Given the description of an element on the screen output the (x, y) to click on. 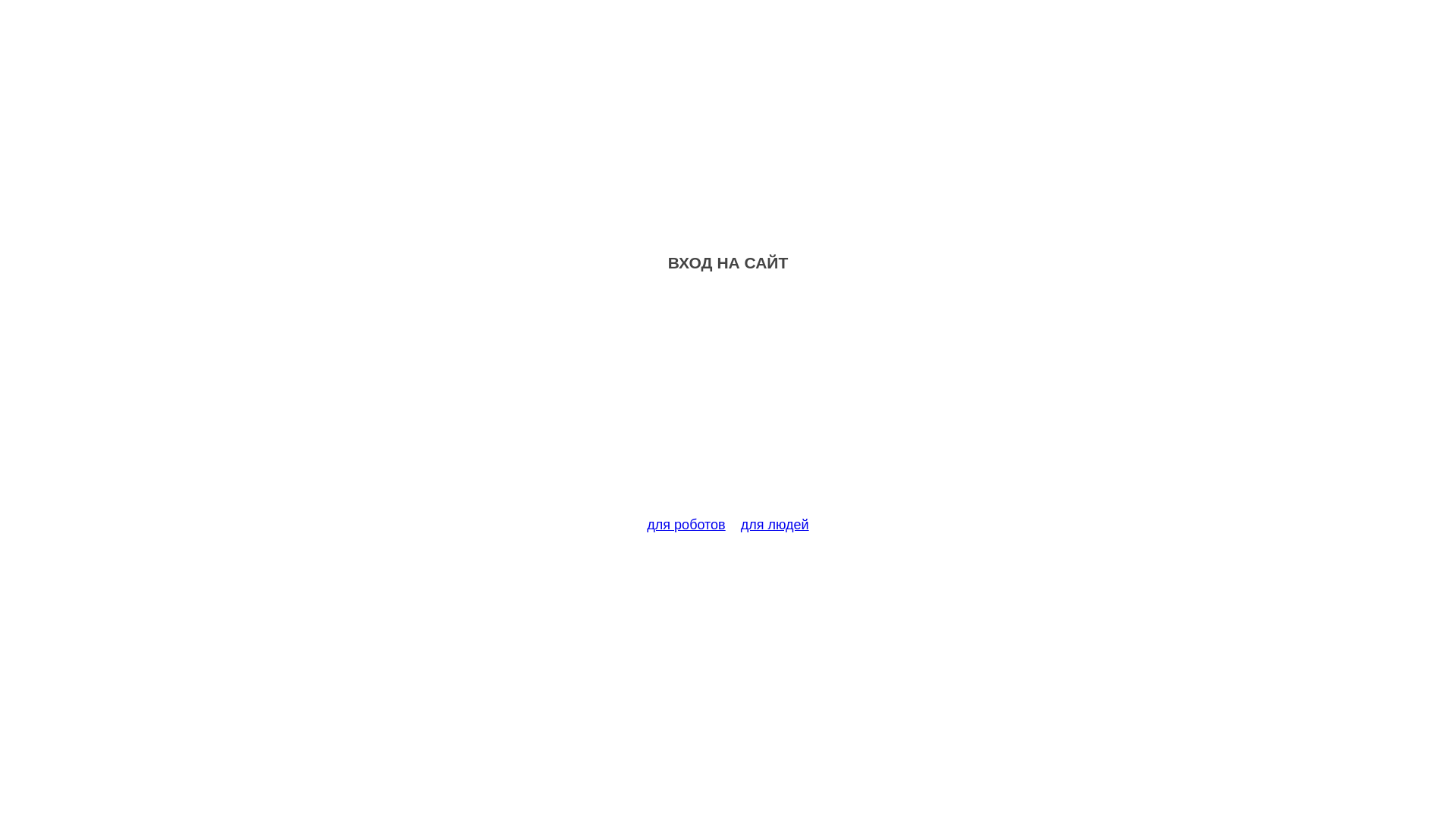
Advertisement Element type: hover (727, 403)
